Given the description of an element on the screen output the (x, y) to click on. 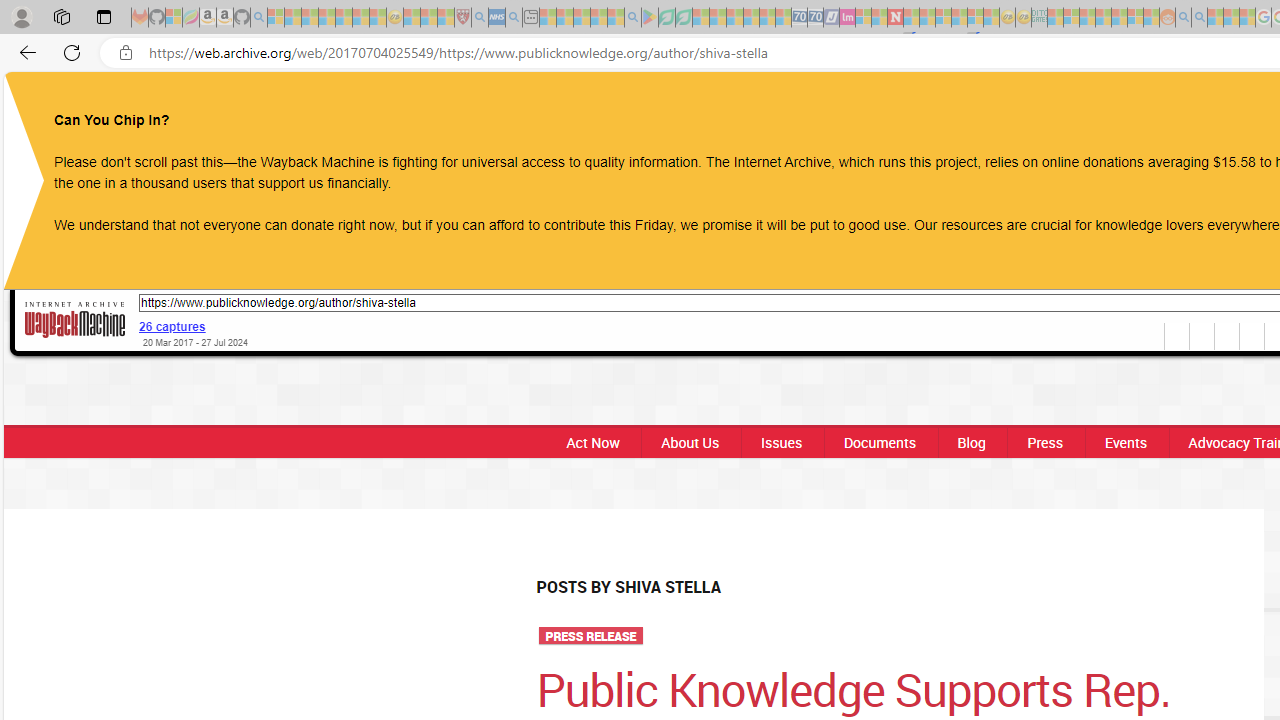
Press (1044, 442)
FACEBOOK (1138, 108)
FACEBOOK (1138, 108)
Act Now (587, 442)
PRESS RELEASE (589, 636)
Blog (971, 442)
About Us (690, 442)
